Given the description of an element on the screen output the (x, y) to click on. 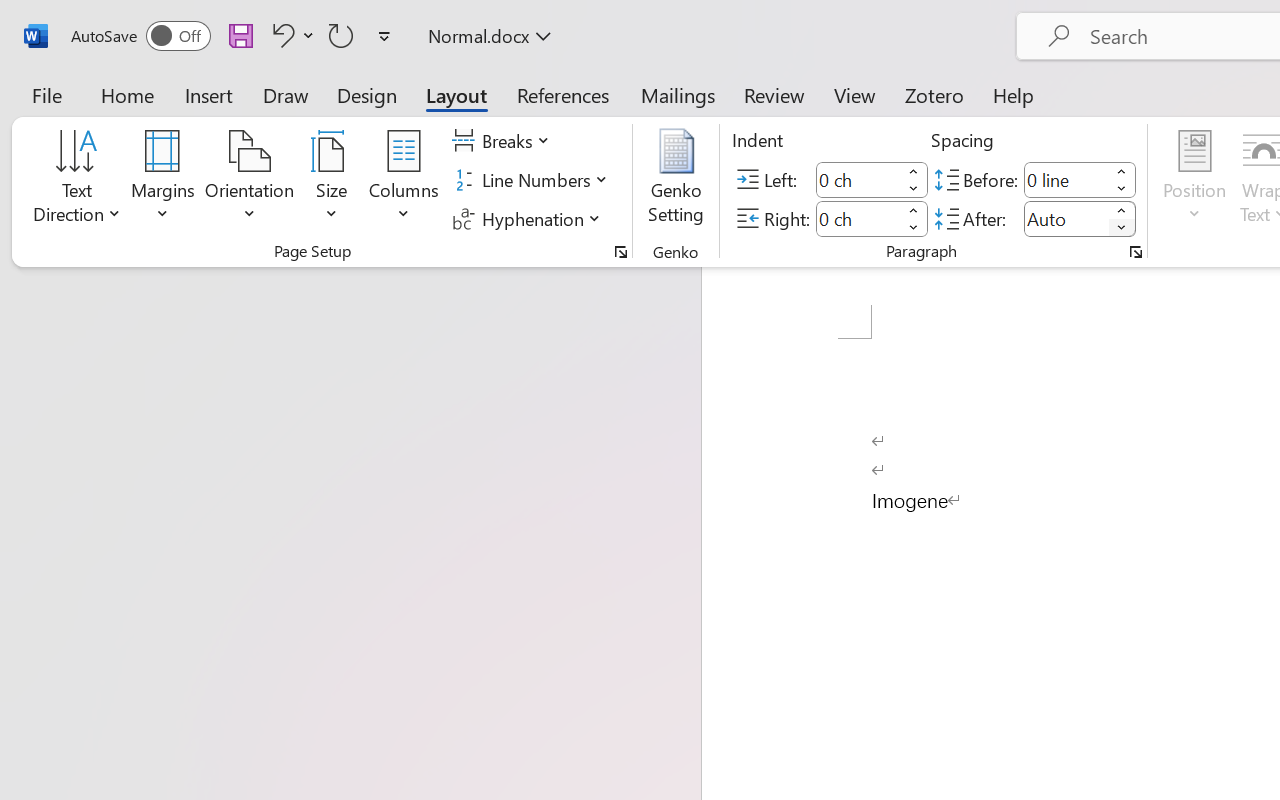
Text Direction (77, 179)
Help (1013, 94)
Indent Right (858, 218)
Line Numbers (532, 179)
Undo Paragraph Formatting (290, 35)
Orientation (250, 179)
Spacing After (1066, 218)
Columns (404, 179)
Breaks (504, 141)
